Given the description of an element on the screen output the (x, y) to click on. 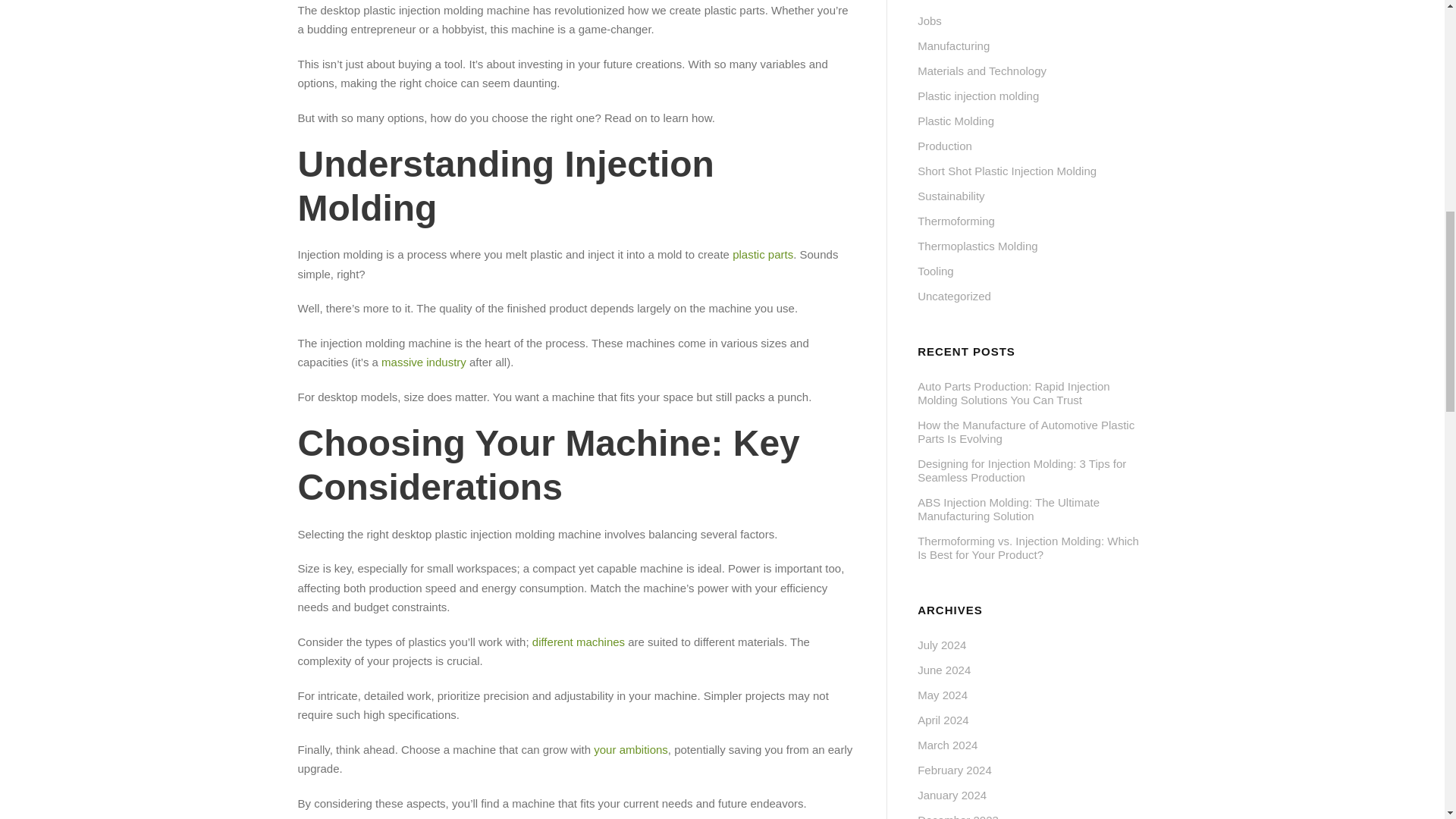
plastic parts (762, 254)
your ambitions (631, 748)
different machines (578, 641)
massive industry (423, 361)
